Given the description of an element on the screen output the (x, y) to click on. 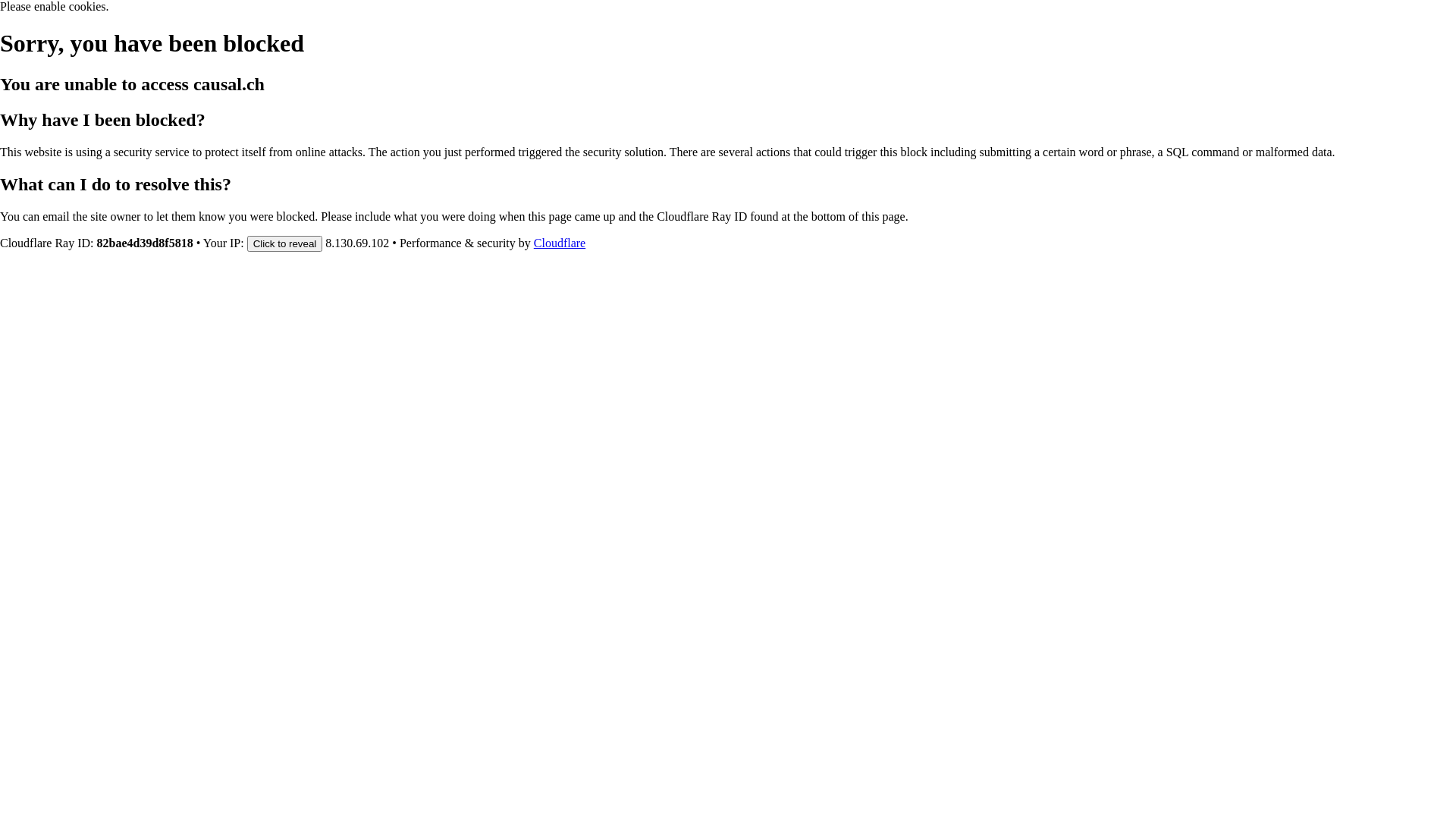
Cloudflare Element type: text (559, 242)
Click to reveal Element type: text (285, 243)
